Given the description of an element on the screen output the (x, y) to click on. 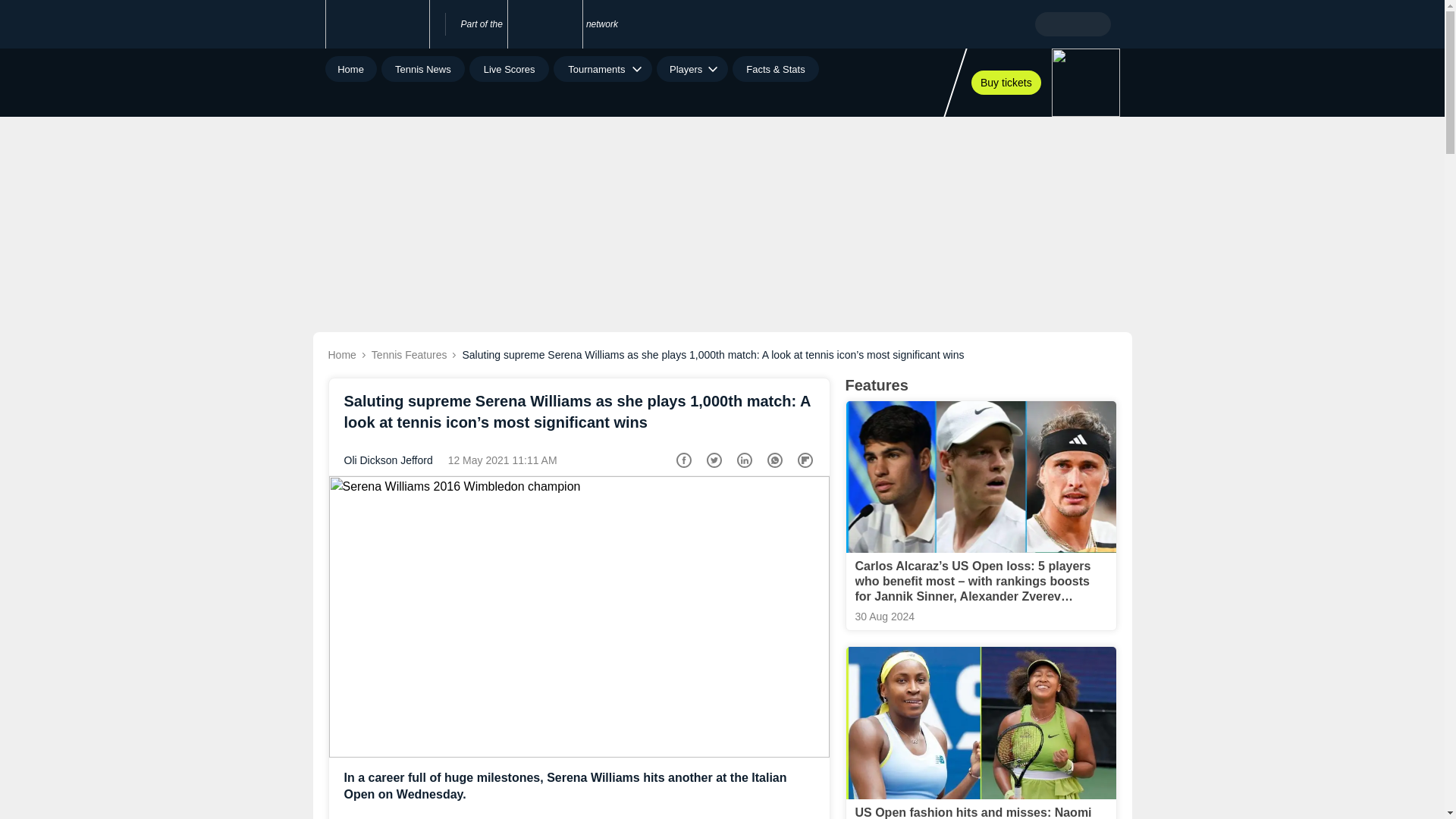
Live Scores (508, 68)
Tournaments (601, 68)
Home (349, 68)
Players (692, 68)
Buy tickets (1006, 82)
Tennis News (423, 68)
